Given the description of an element on the screen output the (x, y) to click on. 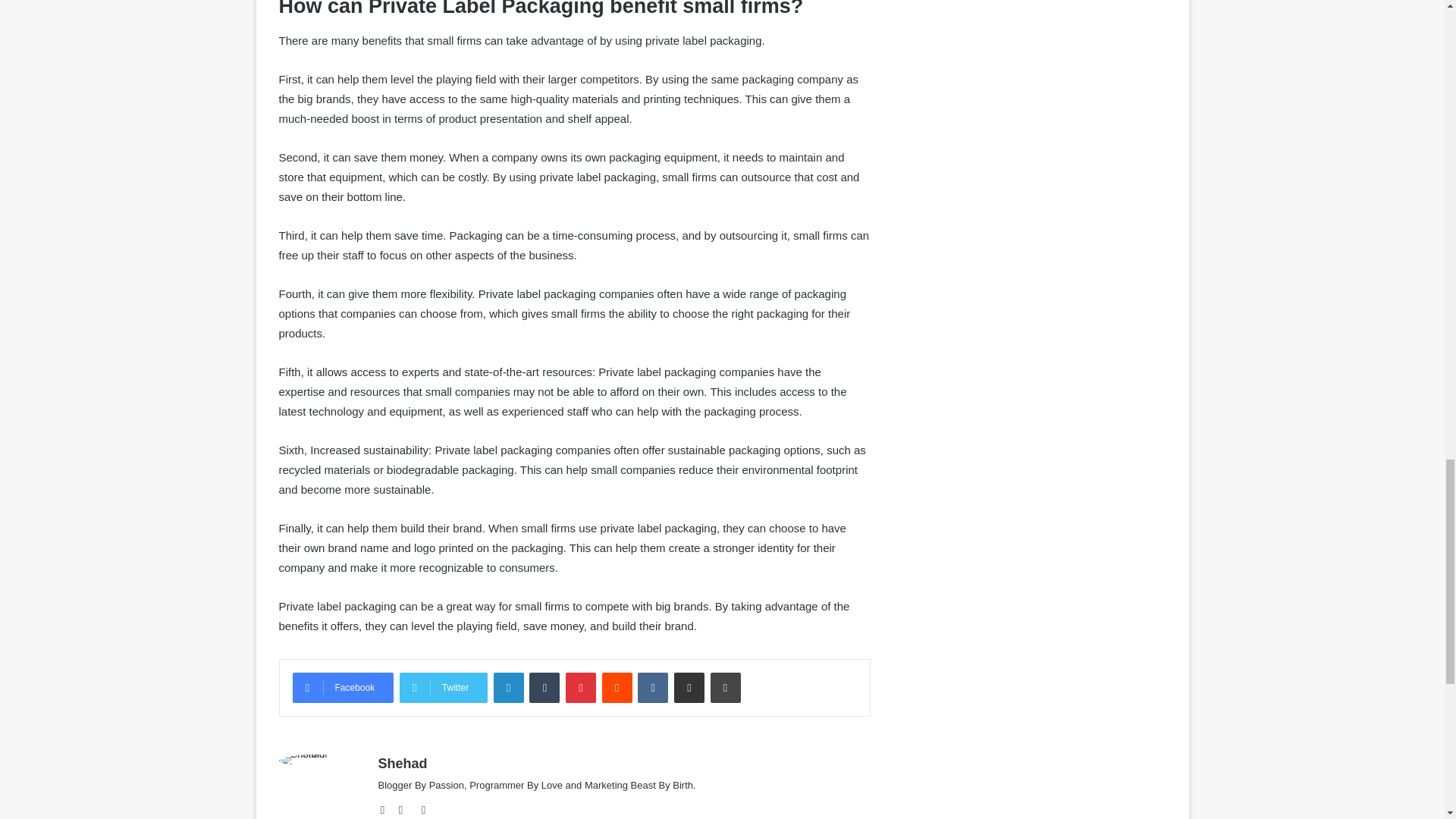
LinkedIn (508, 687)
VKontakte (652, 687)
Pinterest (580, 687)
Facebook (404, 809)
Print (725, 687)
Twitter (442, 687)
LinkedIn (508, 687)
Facebook (343, 687)
VKontakte (652, 687)
Share via Email (689, 687)
